Given the description of an element on the screen output the (x, y) to click on. 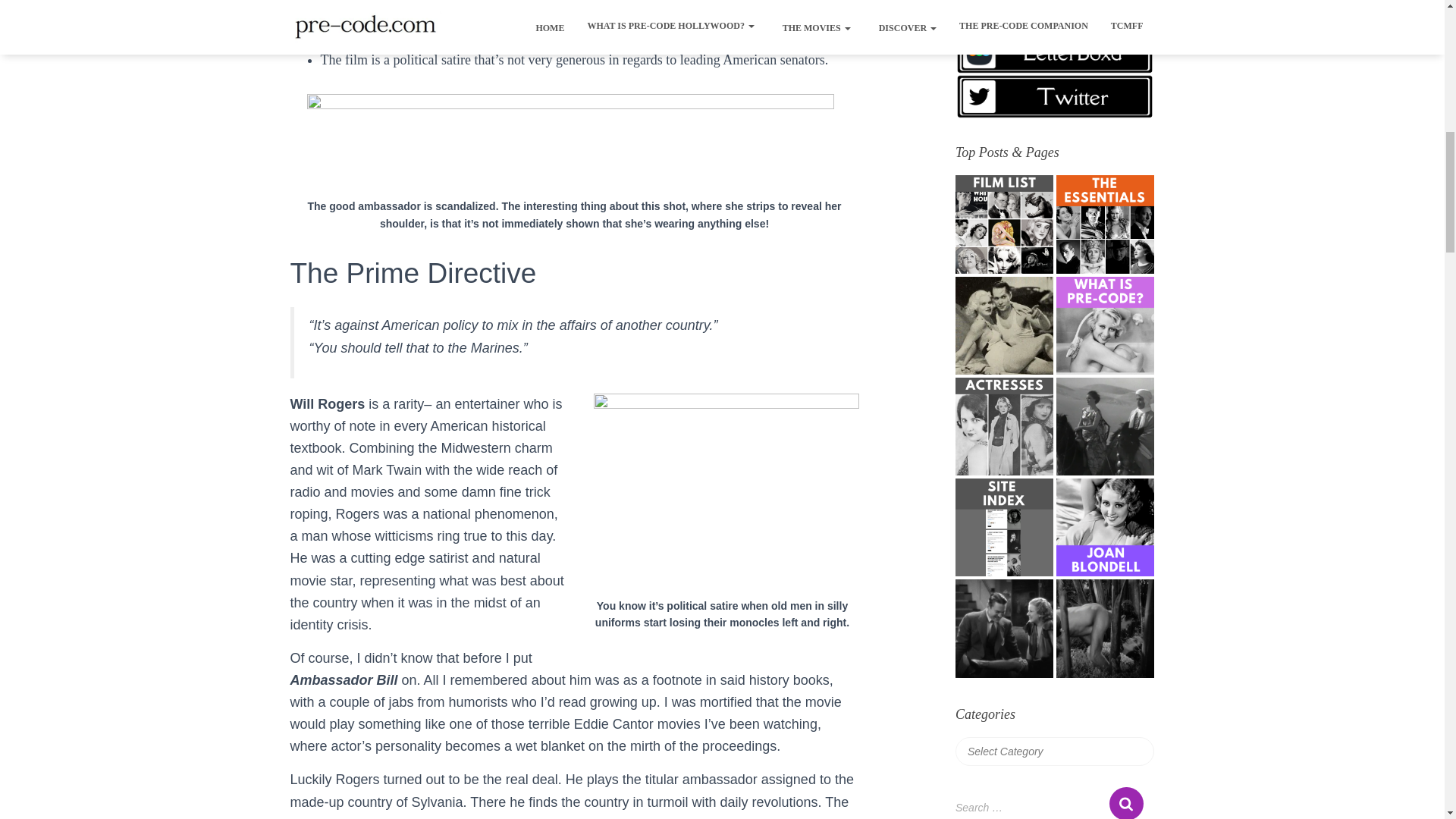
Search (1125, 803)
Search (1125, 803)
